Given the description of an element on the screen output the (x, y) to click on. 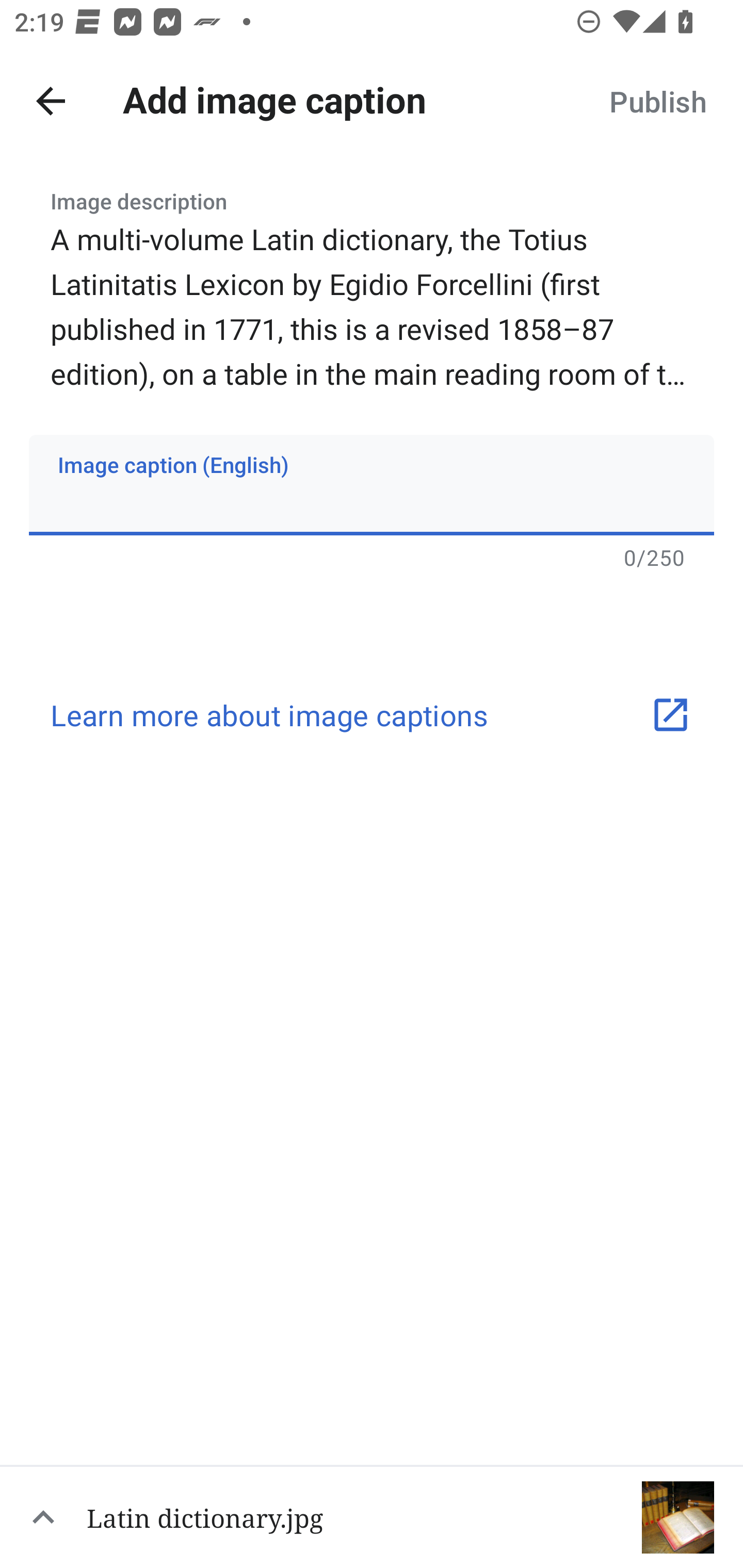
Cancel (50, 101)
Publish (657, 101)
Image caption (English) (371, 484)
Learn more about image captions (371, 714)
Latin dictionary.jpg (371, 1516)
